Given the description of an element on the screen output the (x, y) to click on. 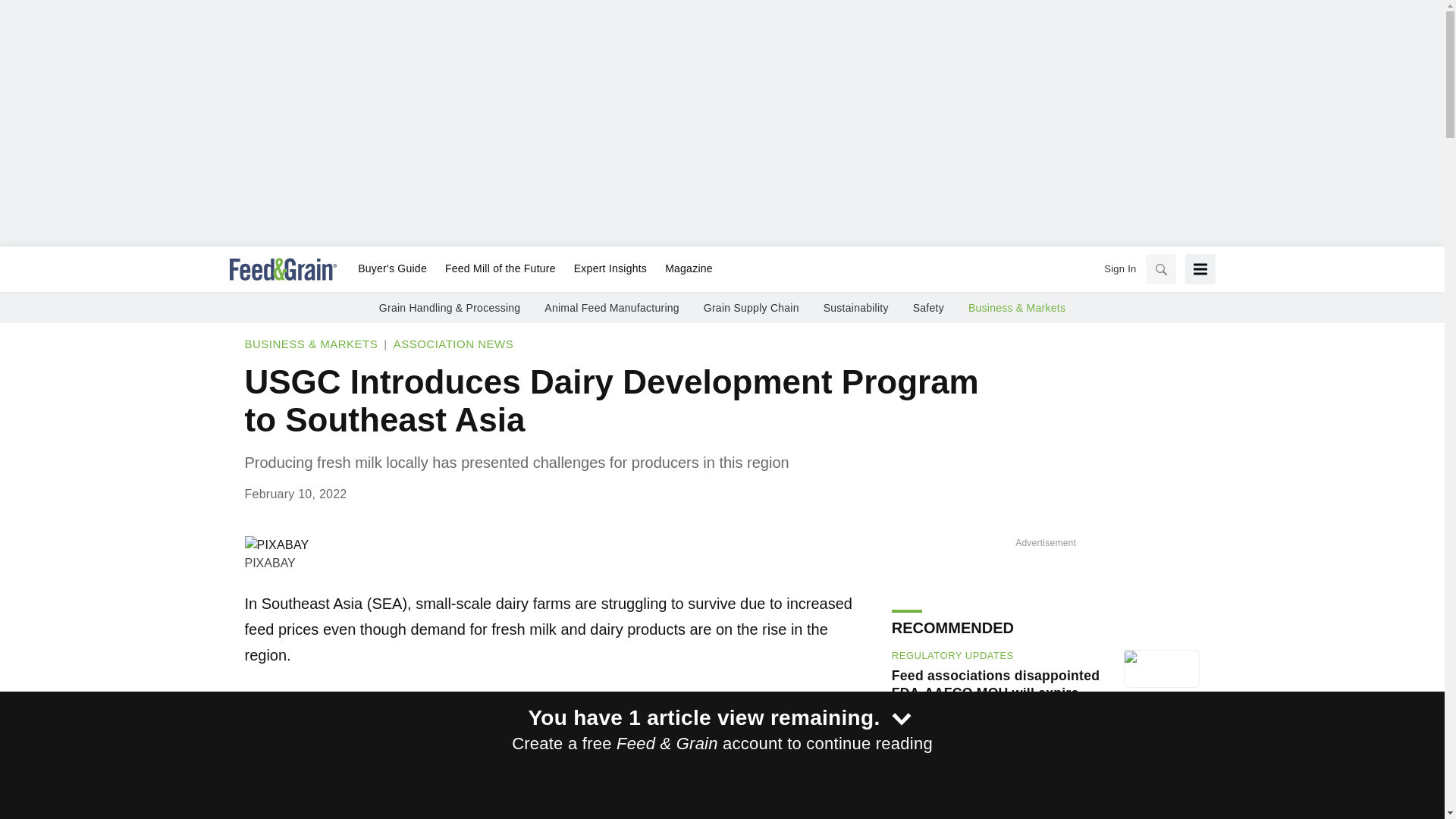
Blogs (909, 649)
Expert Insights (588, 269)
Feed Mill of the Future (478, 269)
Grain Supply Chain (613, 307)
Magazine (663, 269)
Safety (790, 307)
Animal Feed Manufacturing (973, 749)
Animal Feed Manufacturing (474, 307)
Sustainability (718, 307)
Buyer's Guide (371, 269)
Sign In (1119, 268)
Association News (453, 343)
